Given the description of an element on the screen output the (x, y) to click on. 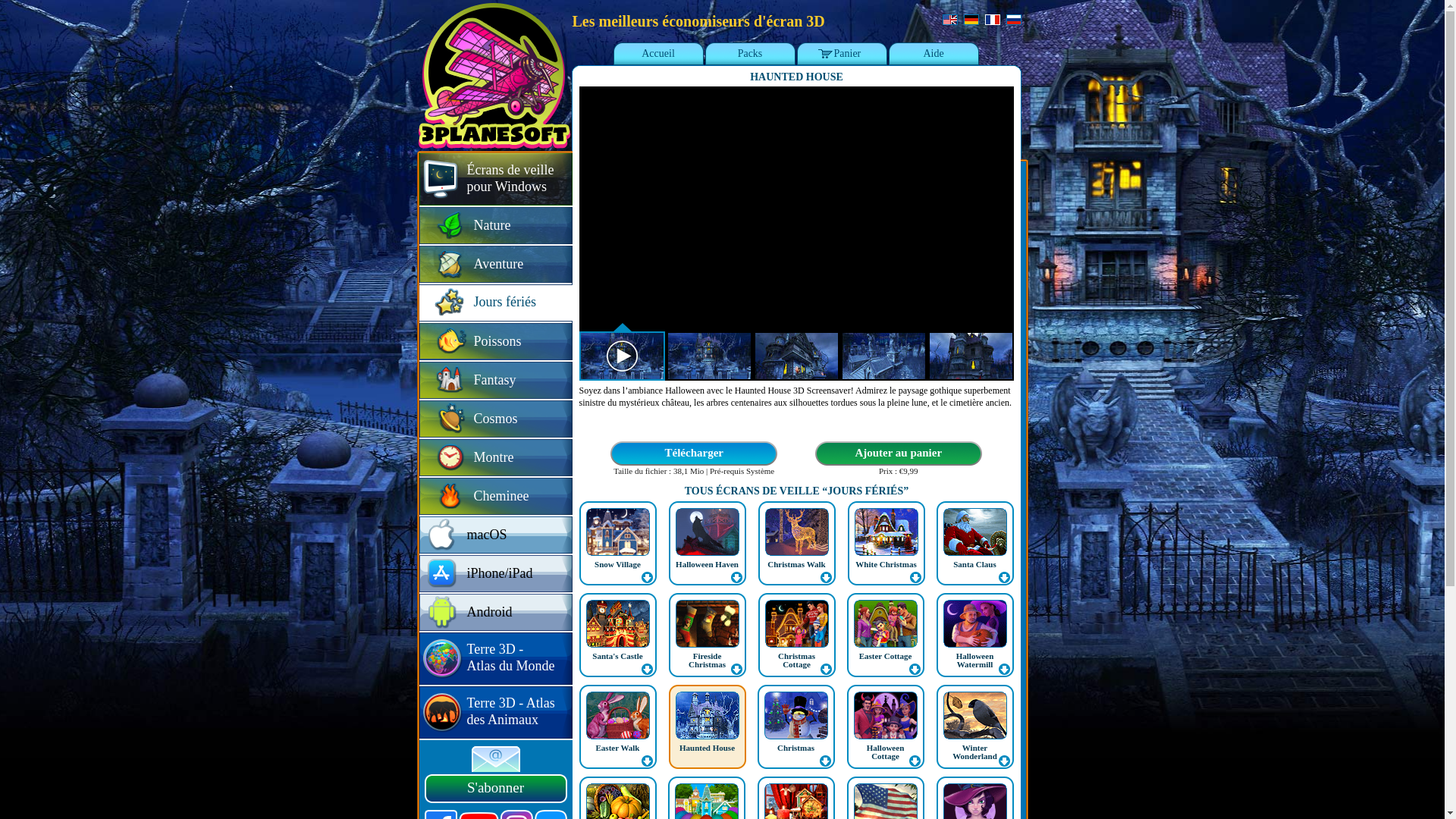
Deutsch Element type: hover (970, 19)
Fireside Christmas Element type: text (706, 659)
Aide Element type: text (933, 54)
Aventure Element type: text (494, 264)
Poissons Element type: text (494, 342)
Terre 3D - Atlas du Monde Element type: text (494, 659)
Android Element type: text (494, 612)
Ajouter au panier Element type: text (898, 453)
Panier Element type: text (842, 54)
macOS Element type: text (494, 535)
Christmas Cottage Element type: text (796, 659)
Terre 3D - Atlas des Animaux Element type: text (494, 713)
Snow Village Element type: text (617, 563)
Christmas Walk Element type: text (796, 563)
Snow Village Element type: text (617, 543)
Halloween Haven Element type: text (707, 543)
Subscribe Element type: hover (495, 758)
Santa Claus Element type: text (974, 543)
White Christmas Element type: text (885, 563)
Santa Claus Element type: text (974, 563)
Accueil Element type: text (658, 54)
iPhone/iPad Element type: text (494, 574)
Fantasy Element type: text (494, 380)
Santa's Castle Element type: text (617, 634)
Easter Cottage Element type: text (884, 634)
Montre Element type: text (494, 458)
Halloween Haven Element type: text (706, 563)
Halloween Cottage Element type: text (885, 751)
Fireside Christmas Element type: text (707, 634)
Winter Wonderland Element type: text (974, 726)
Packs Element type: text (749, 54)
Christmas Element type: text (795, 747)
Halloween Watermill Element type: text (975, 659)
Christmas Element type: text (795, 726)
Cheminee Element type: text (494, 496)
S'abonner Element type: text (495, 788)
Christmas Walk Element type: text (796, 543)
Halloween Watermill Element type: text (974, 634)
Easter Walk Element type: text (618, 747)
Cosmos Element type: text (494, 419)
Nature Element type: text (494, 226)
Santa's Castle Element type: text (617, 655)
Halloween Cottage Element type: text (884, 726)
Easter Walk Element type: text (617, 726)
Easter Cottage Element type: text (885, 655)
Winter Wonderland Element type: text (974, 751)
Christmas Cottage Element type: text (796, 634)
White Christmas Element type: text (886, 543)
English Element type: hover (949, 19)
